Given the description of an element on the screen output the (x, y) to click on. 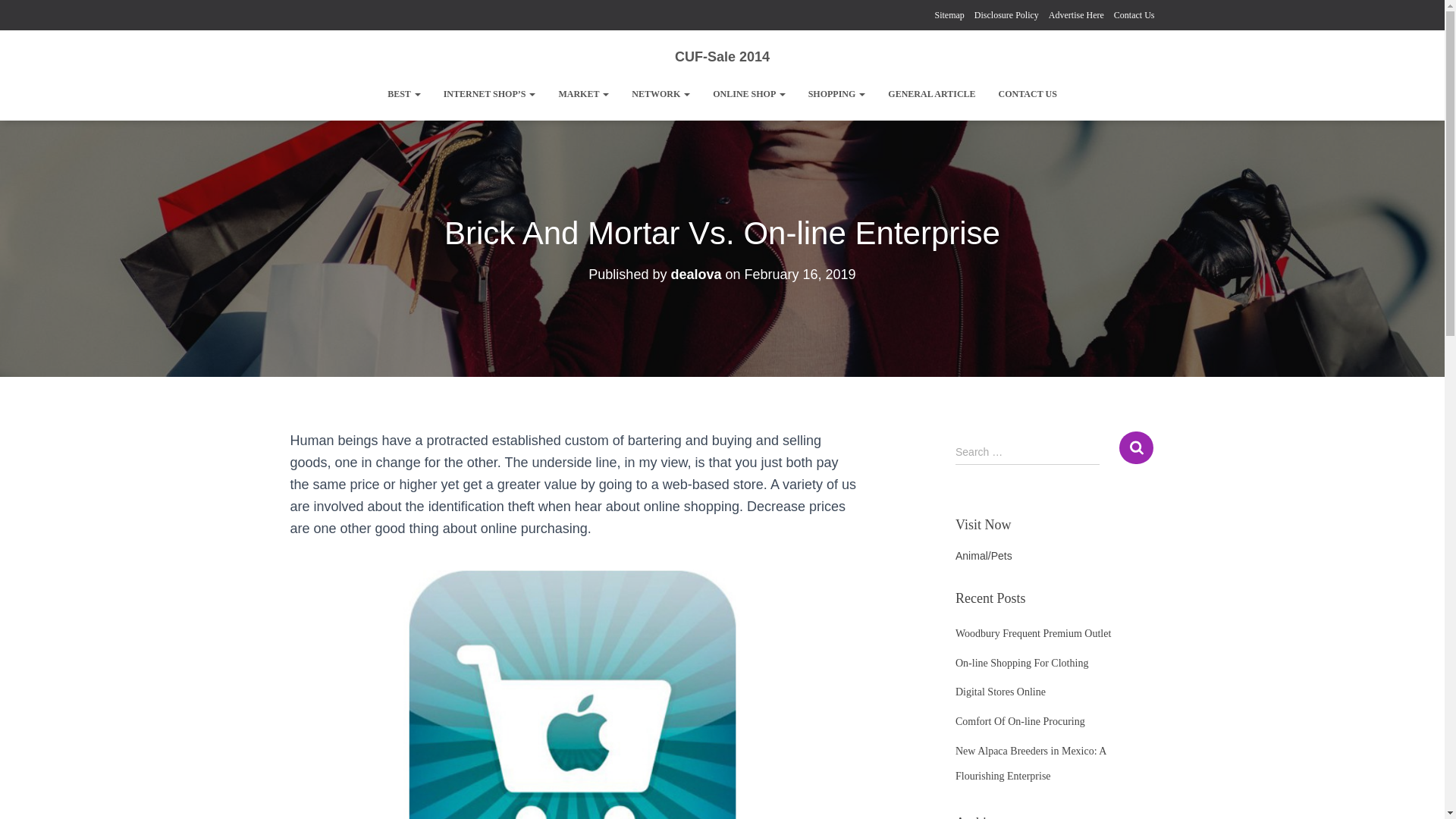
BEST (402, 94)
Disclosure Policy (1006, 15)
Advertise Here (1075, 15)
Market (583, 94)
Best (402, 94)
ONLINE SHOP (748, 94)
CONTACT US (1027, 94)
Sitemap (948, 15)
dealova (694, 273)
Disclosure Policy (1006, 15)
